Given the description of an element on the screen output the (x, y) to click on. 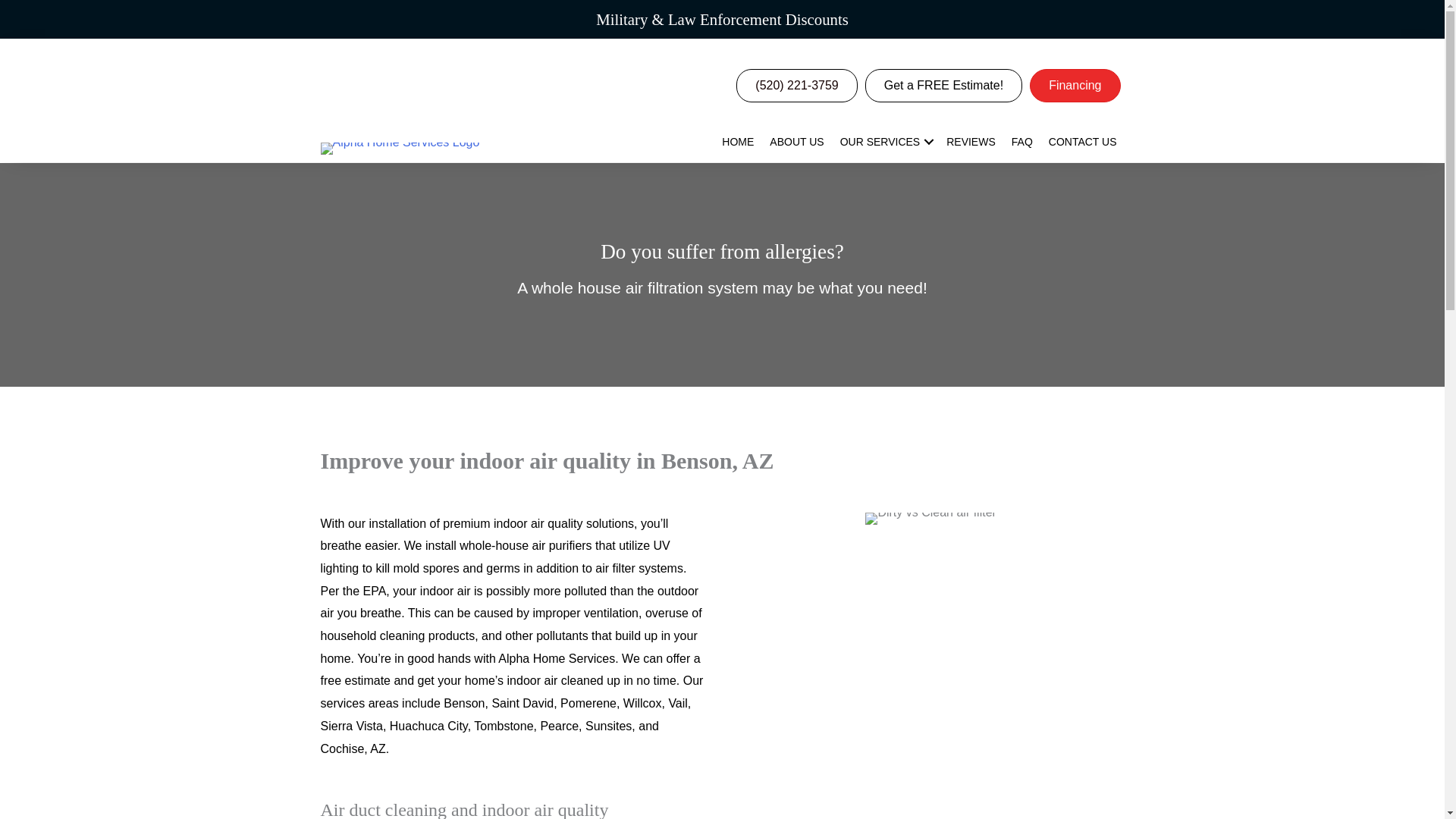
REVIEWS (971, 141)
HOME (737, 141)
OUR SERVICES (885, 141)
CONTACT US (1082, 141)
ABOUT US (796, 141)
FAQ (1022, 141)
Alpha Home Services Logo (399, 148)
Get a FREE Estimate! (943, 85)
Financing (1074, 85)
Indoor Air Quality Page Image (929, 518)
